Given the description of an element on the screen output the (x, y) to click on. 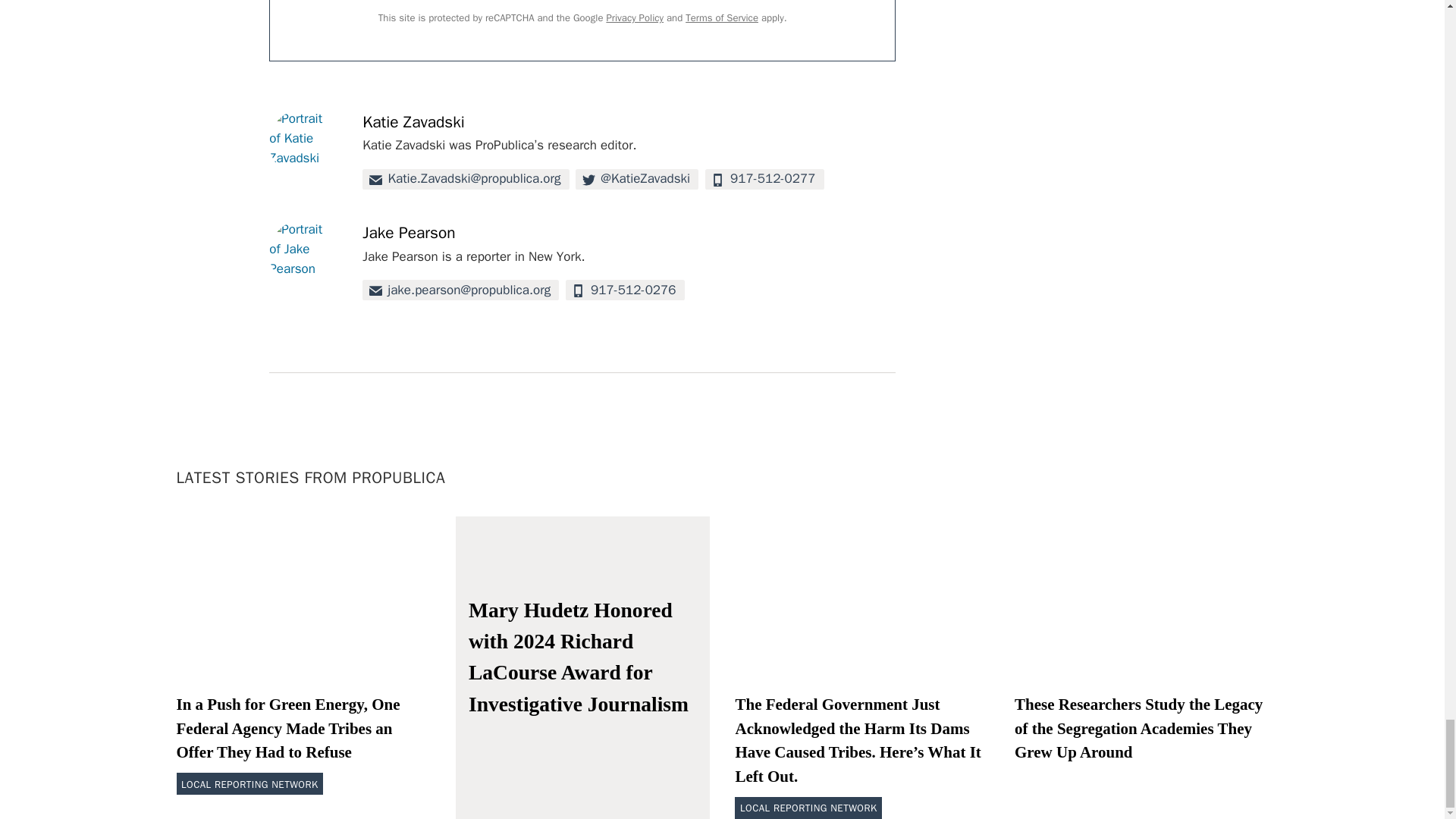
Email (460, 290)
Phone (764, 178)
Twitter (636, 178)
Phone (625, 290)
Email (465, 178)
